Given the description of an element on the screen output the (x, y) to click on. 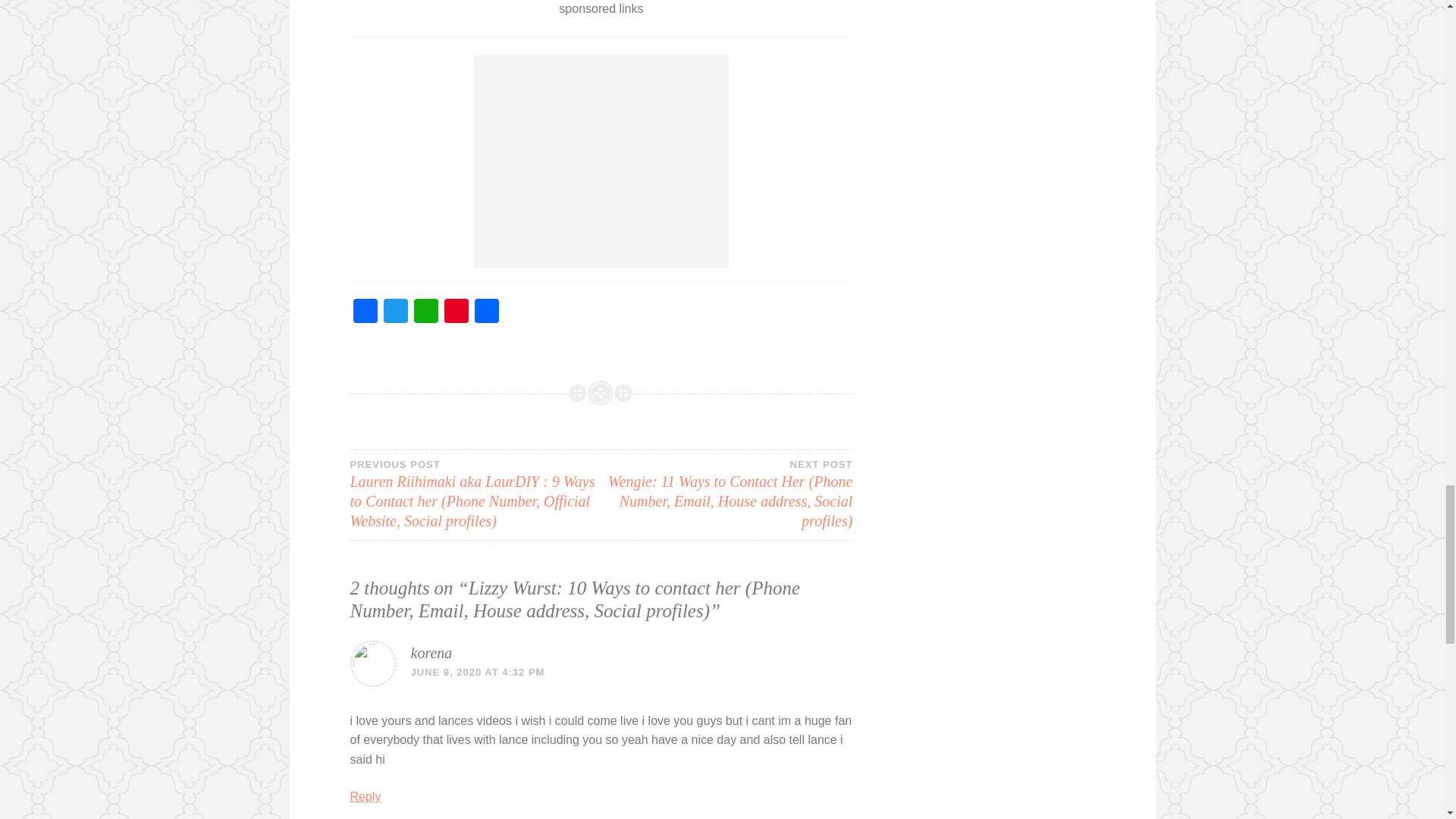
WhatsApp (425, 312)
Twitter (395, 312)
Reply (365, 796)
Pinterest (456, 312)
WhatsApp (425, 312)
Facebook (365, 312)
Share (486, 312)
JUNE 9, 2020 AT 4:32 PM (477, 672)
Pinterest (456, 312)
Facebook (365, 312)
